Given the description of an element on the screen output the (x, y) to click on. 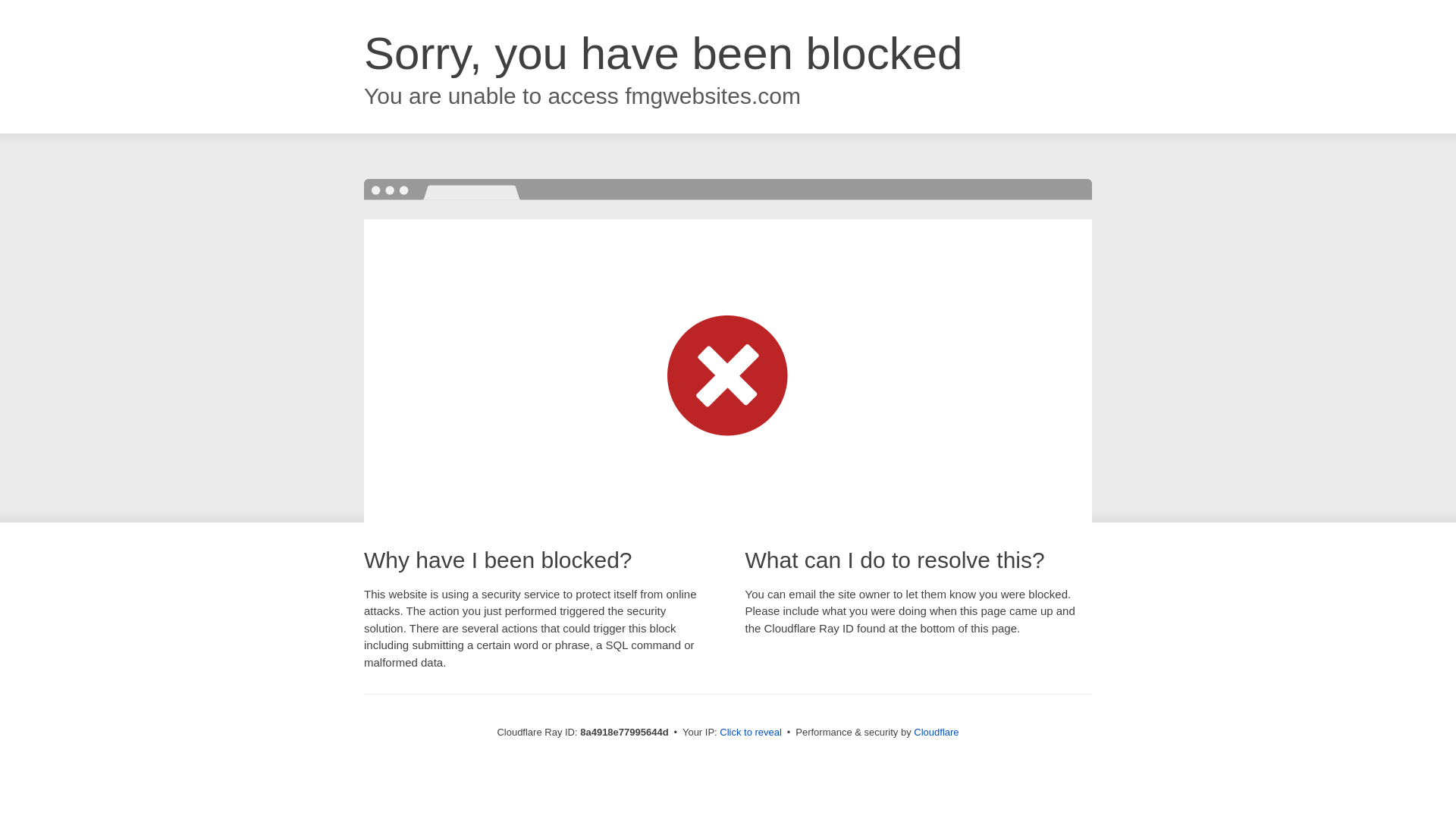
Click to reveal (750, 732)
Cloudflare (936, 731)
